Given the description of an element on the screen output the (x, y) to click on. 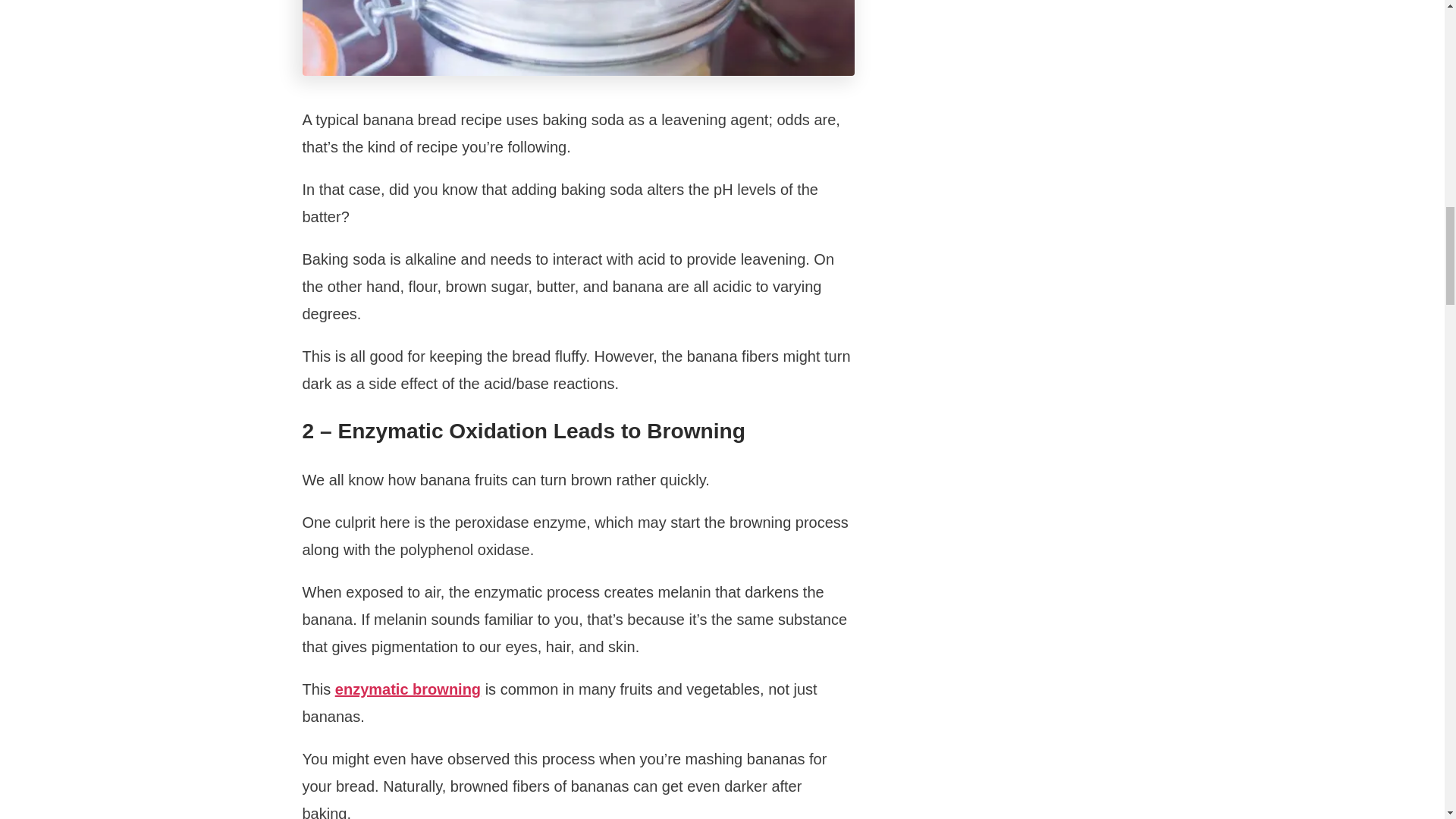
enzymatic browning (407, 688)
